Given the description of an element on the screen output the (x, y) to click on. 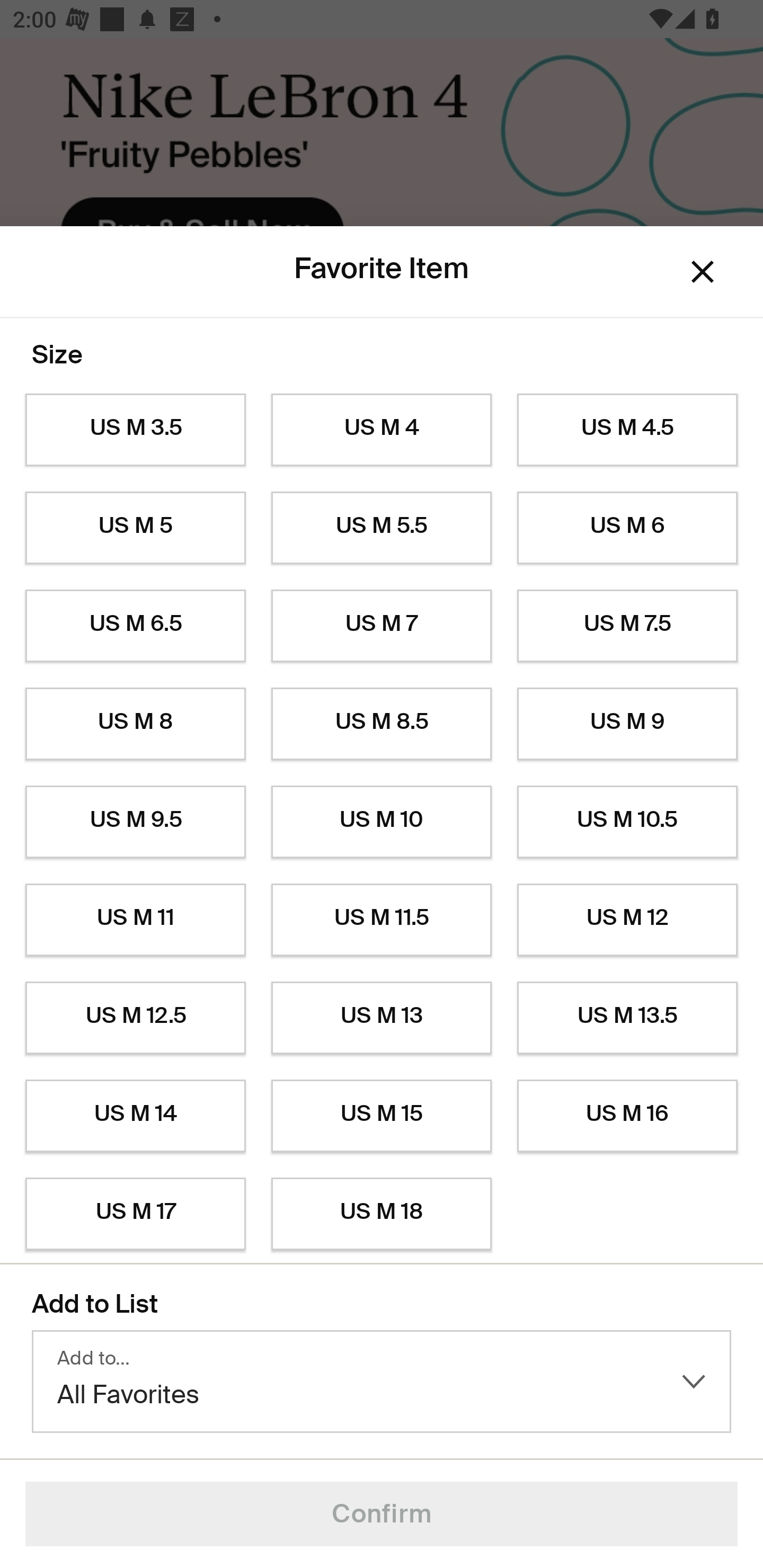
Dismiss (702, 271)
US M 3.5 (135, 430)
US M 4 (381, 430)
US M 4.5 (627, 430)
US M 5 (135, 527)
US M 5.5 (381, 527)
US M 6 (627, 527)
US M 6.5 (135, 626)
US M 7 (381, 626)
US M 7.5 (627, 626)
US M 8 (135, 724)
US M 8.5 (381, 724)
US M 9 (627, 724)
US M 9.5 (135, 822)
US M 10 (381, 822)
US M 10.5 (627, 822)
US M 11 (135, 919)
US M 11.5 (381, 919)
US M 12 (627, 919)
US M 12.5 (135, 1018)
US M 13 (381, 1018)
US M 13.5 (627, 1018)
US M 14 (135, 1116)
US M 15 (381, 1116)
US M 16 (627, 1116)
US M 17 (135, 1214)
US M 18 (381, 1214)
Add to… All Favorites (381, 1381)
Confirm (381, 1513)
